Given the description of an element on the screen output the (x, y) to click on. 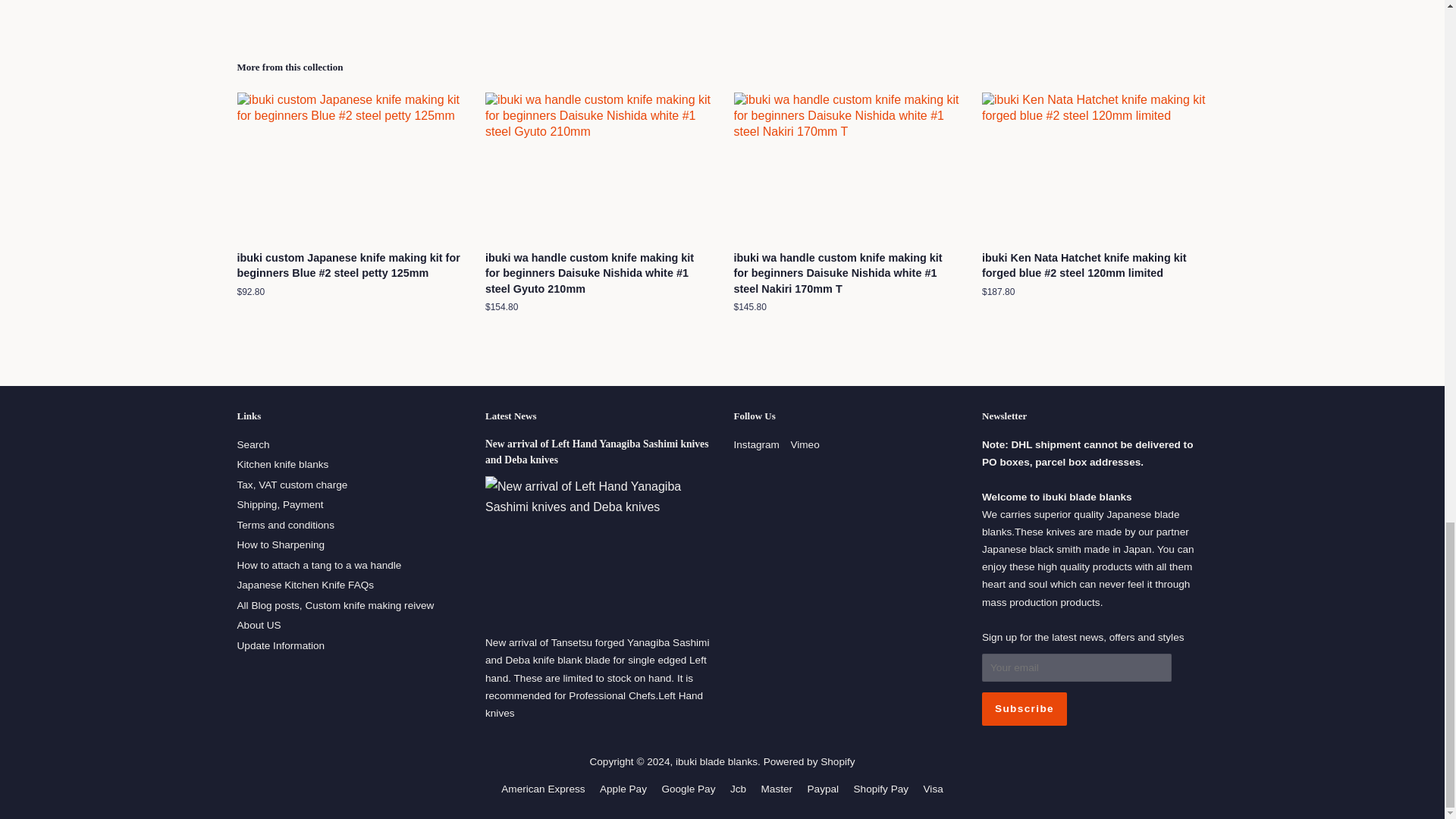
ibuki blade blanks on Vimeo (804, 444)
ibuki blade blanks on Instagram (755, 444)
Subscribe (1024, 708)
